Given the description of an element on the screen output the (x, y) to click on. 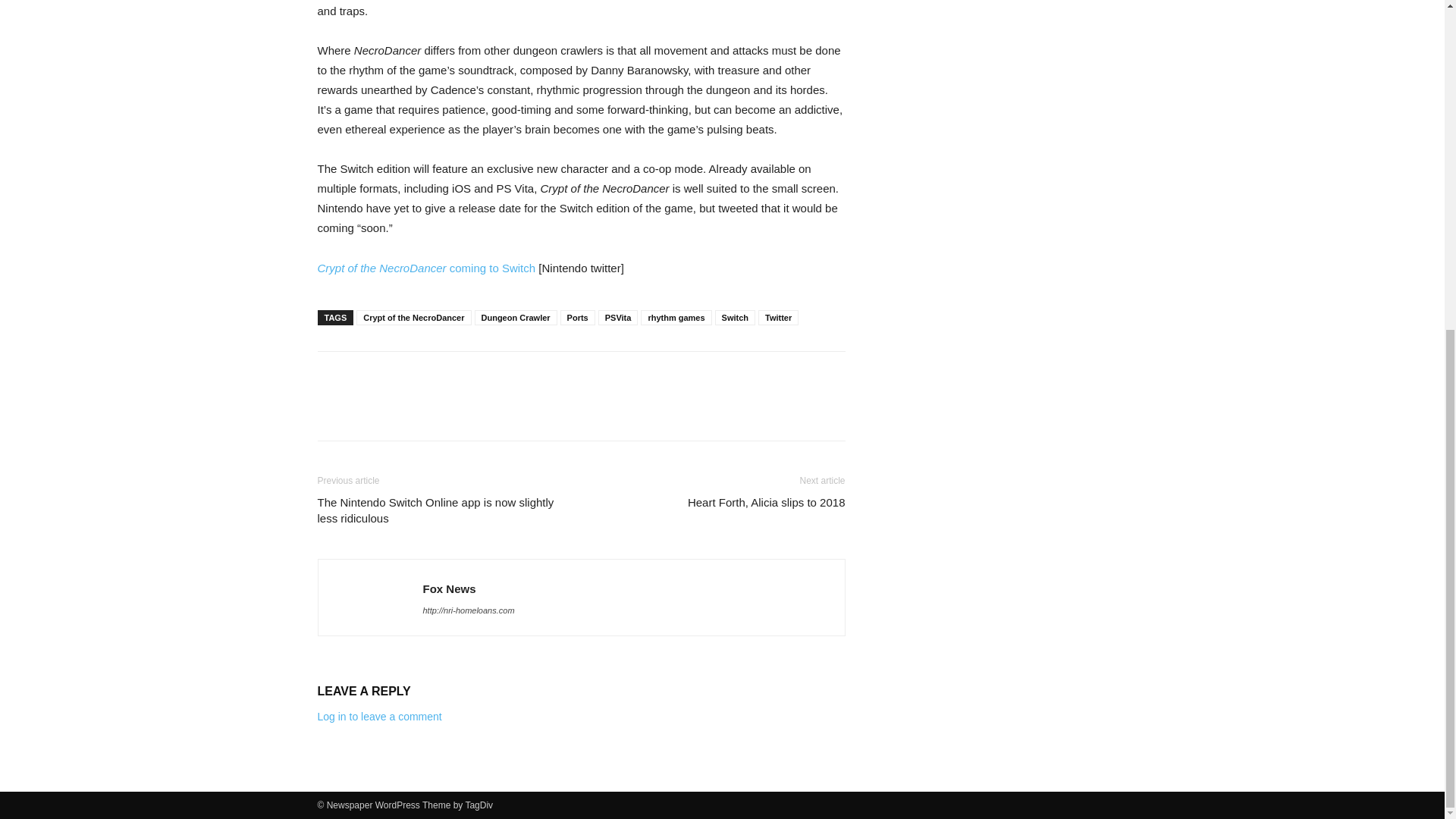
Crypt of the NecroDancer (413, 317)
Dungeon Crawler (515, 317)
Twitter (777, 317)
Ports (577, 317)
PSVita (618, 317)
bottomFacebookLike (430, 375)
rhythm games (675, 317)
Switch (734, 317)
Crypt of the NecroDancer coming to Switch (427, 267)
